Given the description of an element on the screen output the (x, y) to click on. 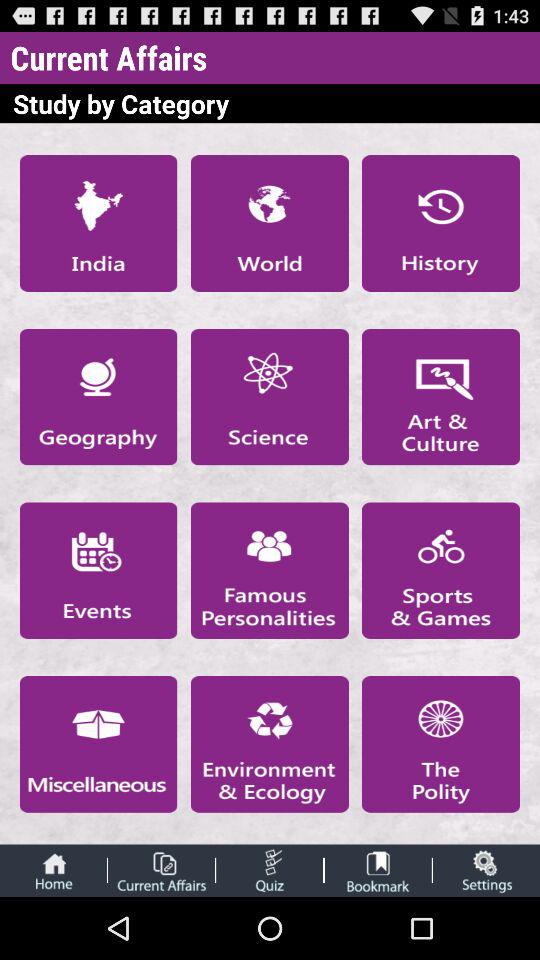
go to sports and game affairs (441, 570)
